Given the description of an element on the screen output the (x, y) to click on. 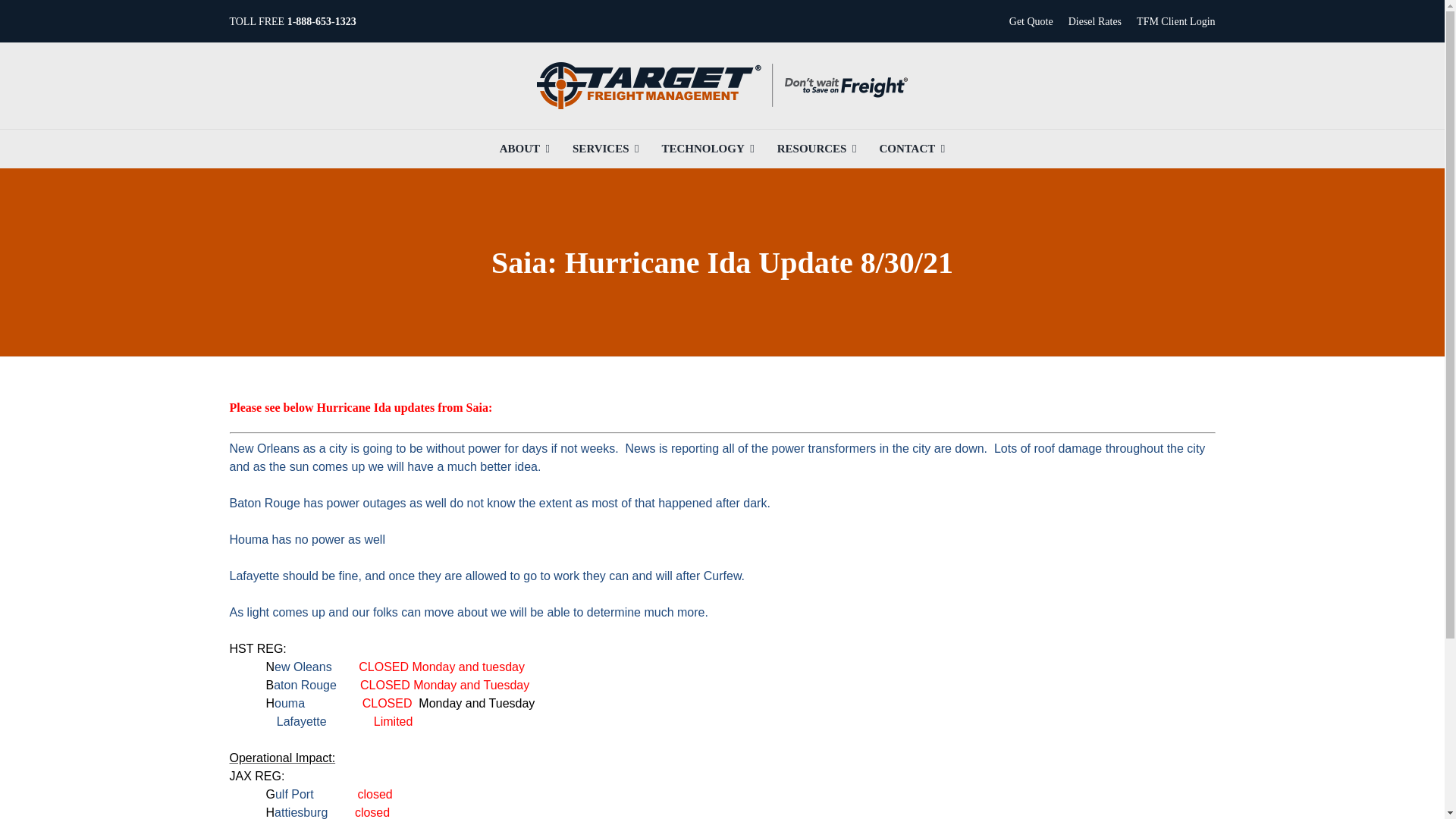
Get Quote (1030, 21)
SERVICES (605, 148)
RESOURCES (817, 148)
CONTACT (911, 148)
TECHNOLOGY (708, 148)
ABOUT (524, 148)
Diesel Rates (1094, 21)
TFM Client Login (1175, 21)
